Given the description of an element on the screen output the (x, y) to click on. 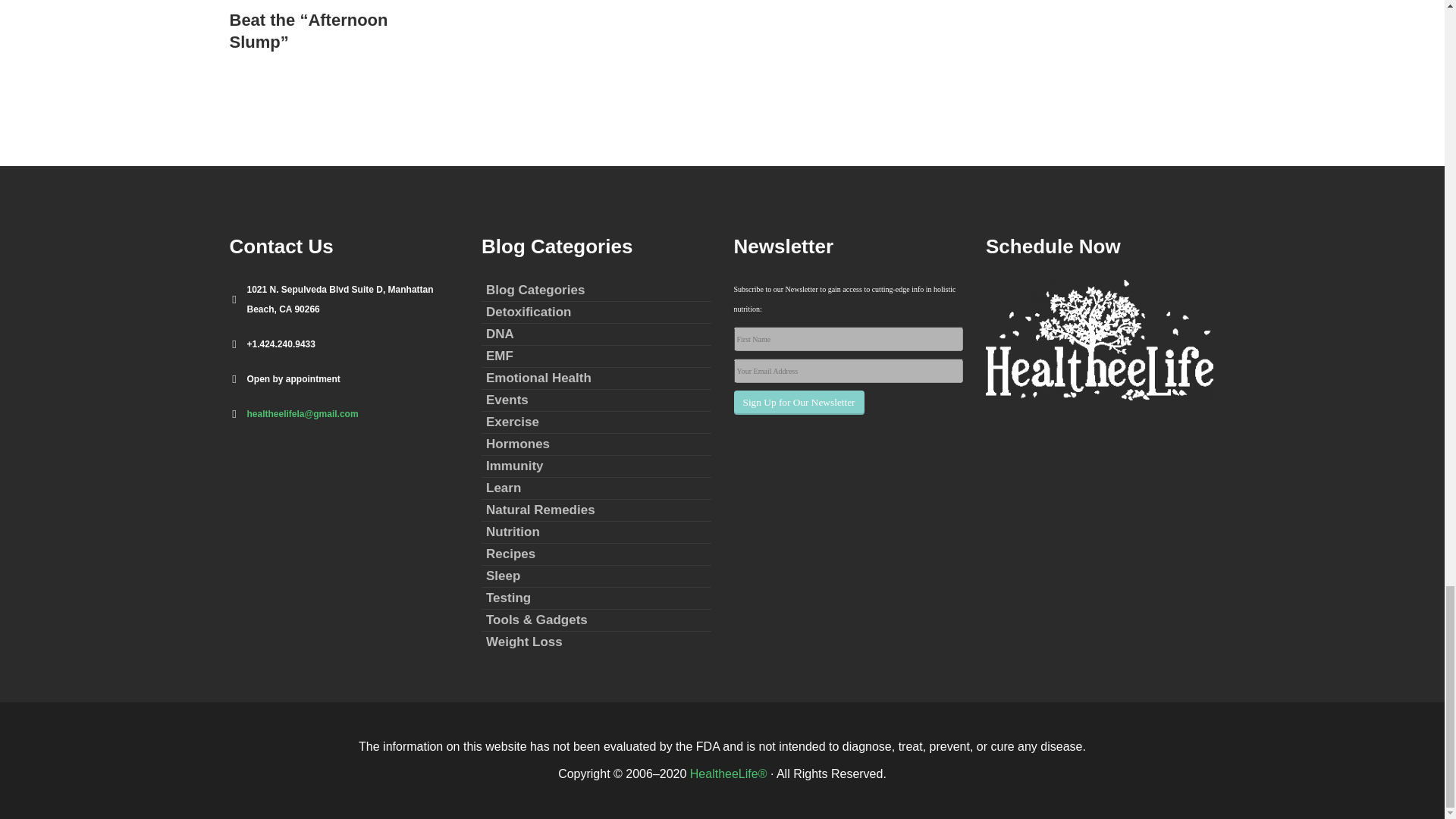
Sign Up for Our Newsletter (798, 402)
Healthee Life (728, 773)
